Given the description of an element on the screen output the (x, y) to click on. 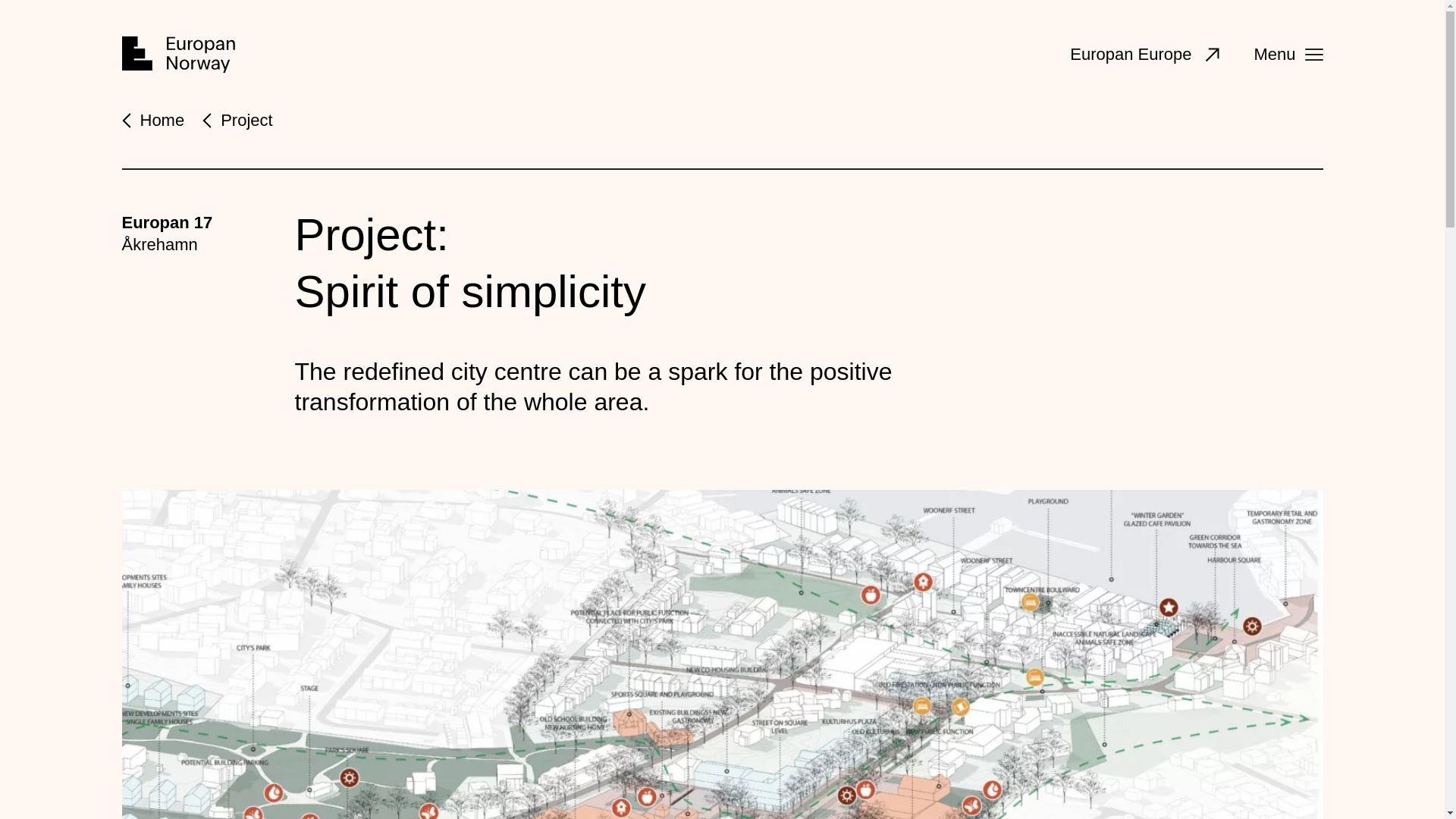
Europan Europe (1147, 54)
Menu (1287, 54)
Europan 17 (166, 221)
Project (246, 119)
Home (177, 54)
Home (161, 119)
